Given the description of an element on the screen output the (x, y) to click on. 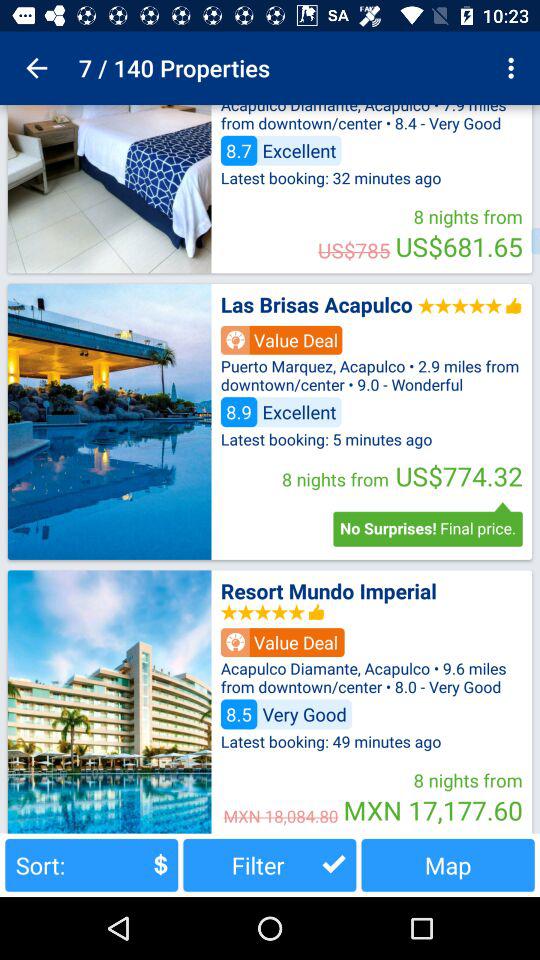
turn on the item to the left of the filter button (91, 864)
